Given the description of an element on the screen output the (x, y) to click on. 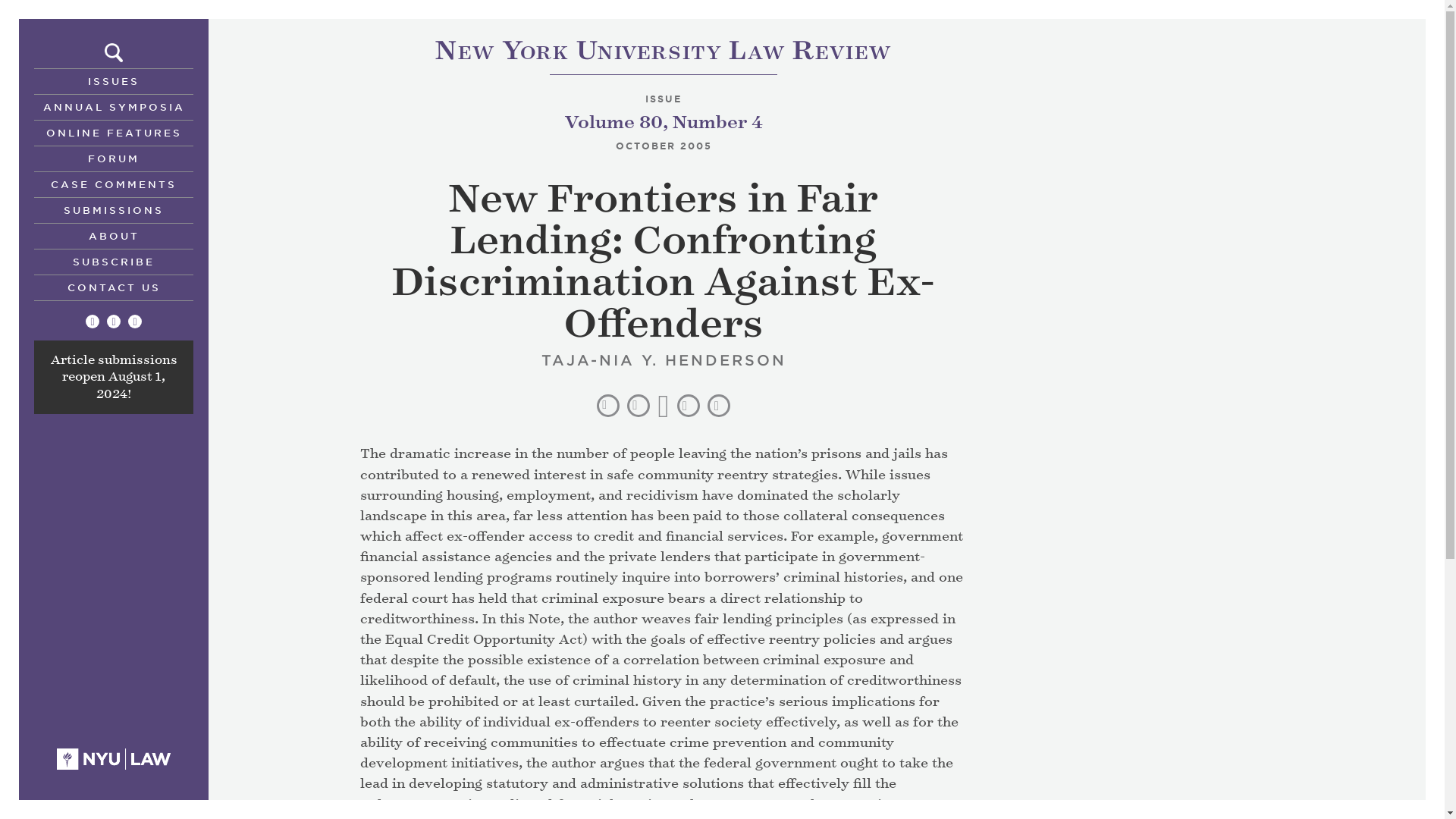
SUBSCRIBE (113, 261)
Facebook (113, 321)
ABOUT (113, 235)
SUBMISSIONS (113, 209)
ISSUES (113, 80)
ONLINE FEATURES (113, 132)
Article submissions reopen August 1, 2024! (112, 377)
FORUM (113, 158)
Volume 80, Number 4 (662, 122)
CONTACT US (113, 287)
Twitter (92, 321)
ANNUAL SYMPOSIA (113, 106)
CASE COMMENTS (663, 52)
